Given the description of an element on the screen output the (x, y) to click on. 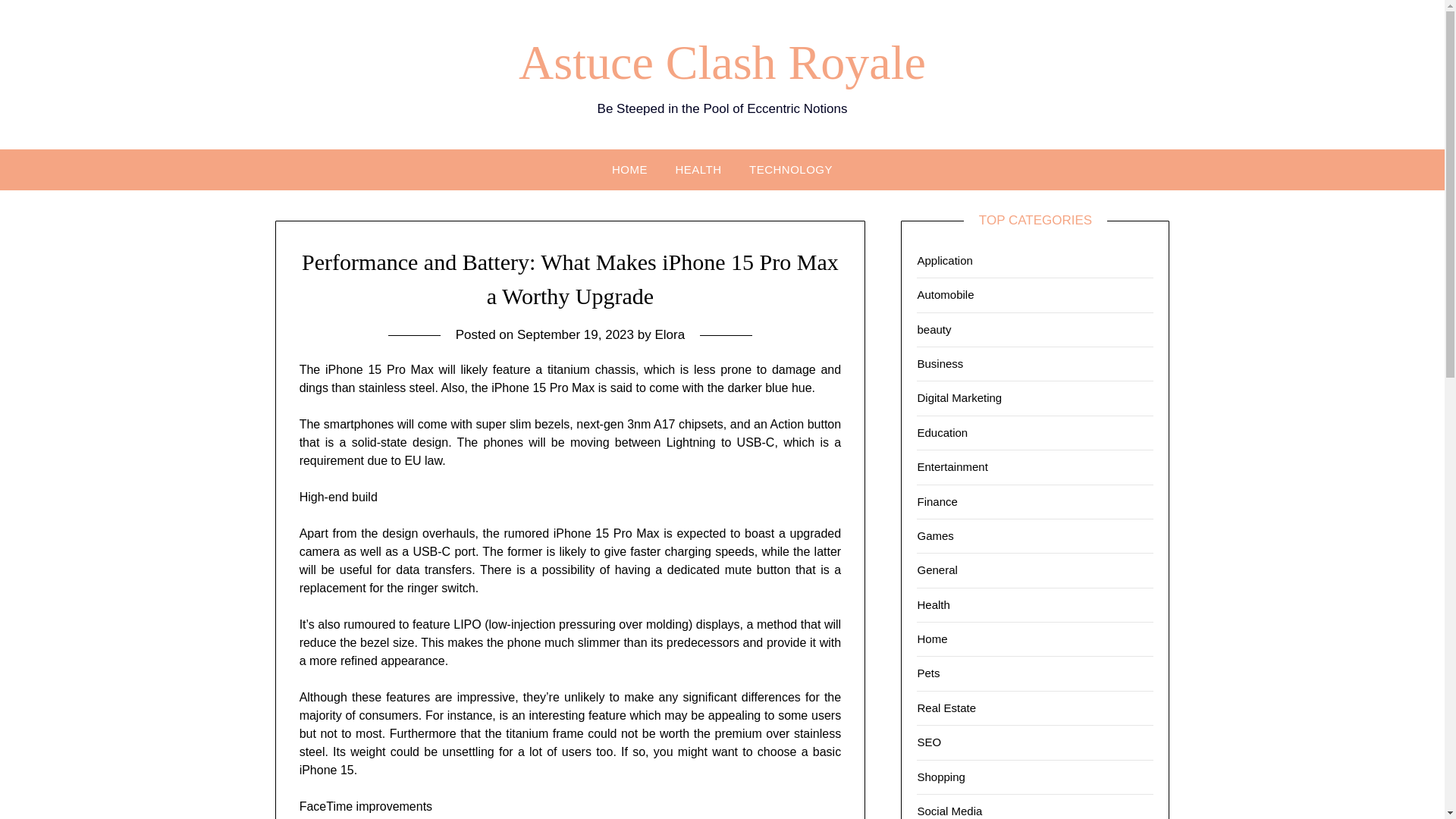
Home (932, 638)
Business (939, 363)
Astuce Clash Royale (722, 62)
Finance (936, 500)
HEALTH (697, 168)
Digital Marketing (959, 397)
September 19, 2023 (574, 334)
beauty (933, 328)
Shopping (940, 776)
General (936, 569)
TECHNOLOGY (790, 168)
HOME (629, 168)
Elora (668, 334)
Real Estate (946, 707)
Entertainment (952, 466)
